Given the description of an element on the screen output the (x, y) to click on. 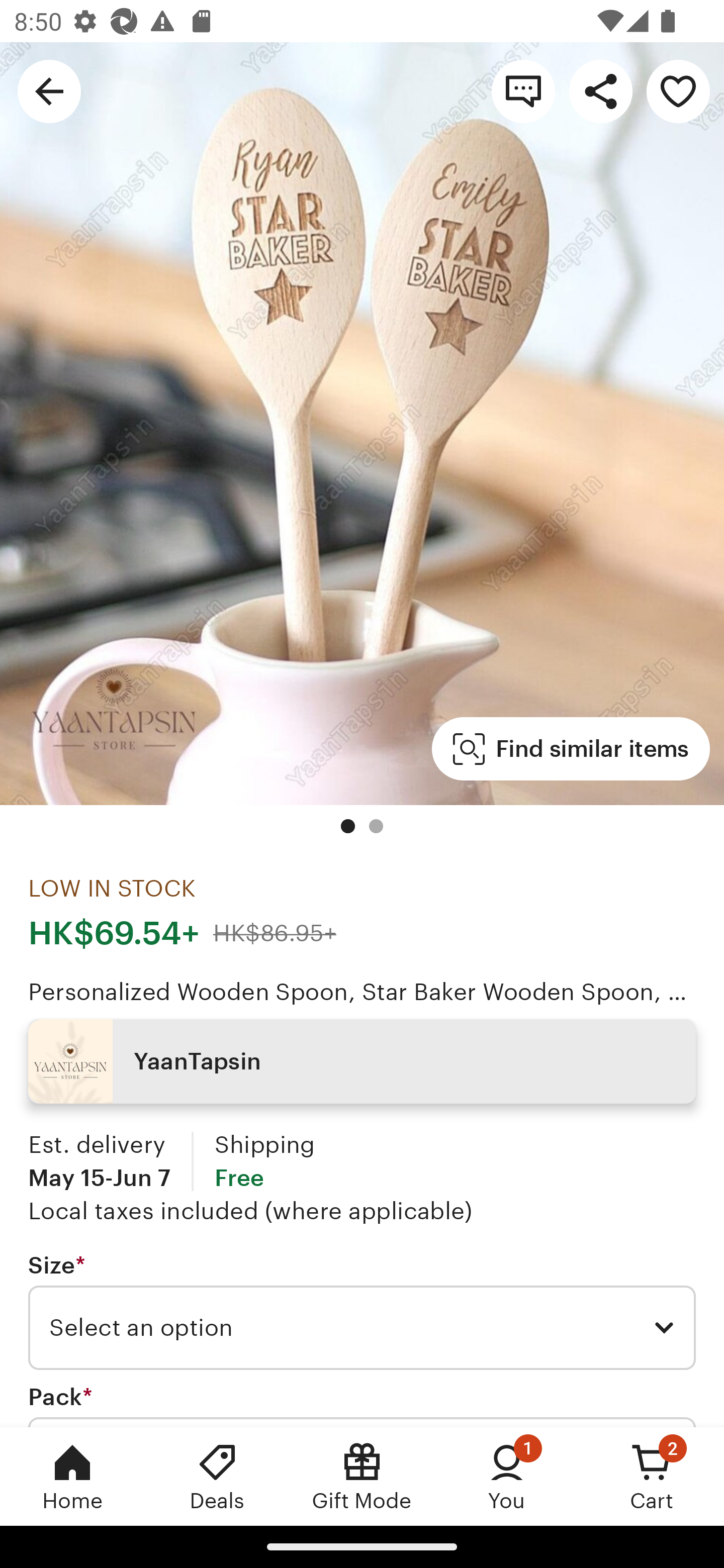
Navigate up (49, 90)
Contact shop (523, 90)
Share (600, 90)
Find similar items (571, 748)
YaanTapsin (361, 1061)
Size * Required Select an option (361, 1311)
Select an option (361, 1327)
Pack * Required Select an option (361, 1405)
Deals (216, 1475)
Gift Mode (361, 1475)
You, 1 new notification You (506, 1475)
Cart, 2 new notifications Cart (651, 1475)
